Given the description of an element on the screen output the (x, y) to click on. 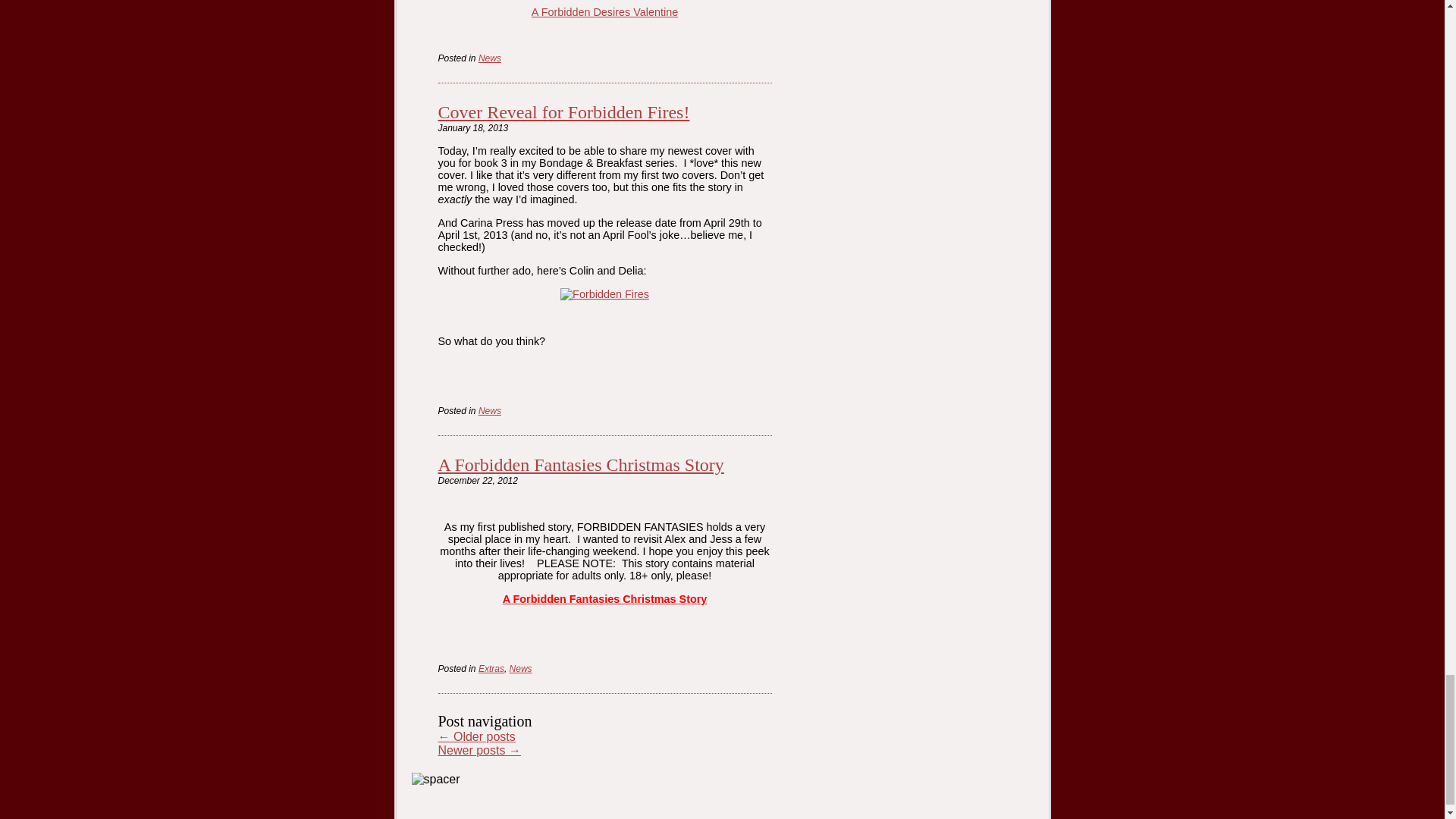
Forbidden Fires Cover (604, 294)
Forbidden Desires Valentine (604, 11)
Permalink to Cover Reveal for Forbidden Fires! (564, 112)
